Given the description of an element on the screen output the (x, y) to click on. 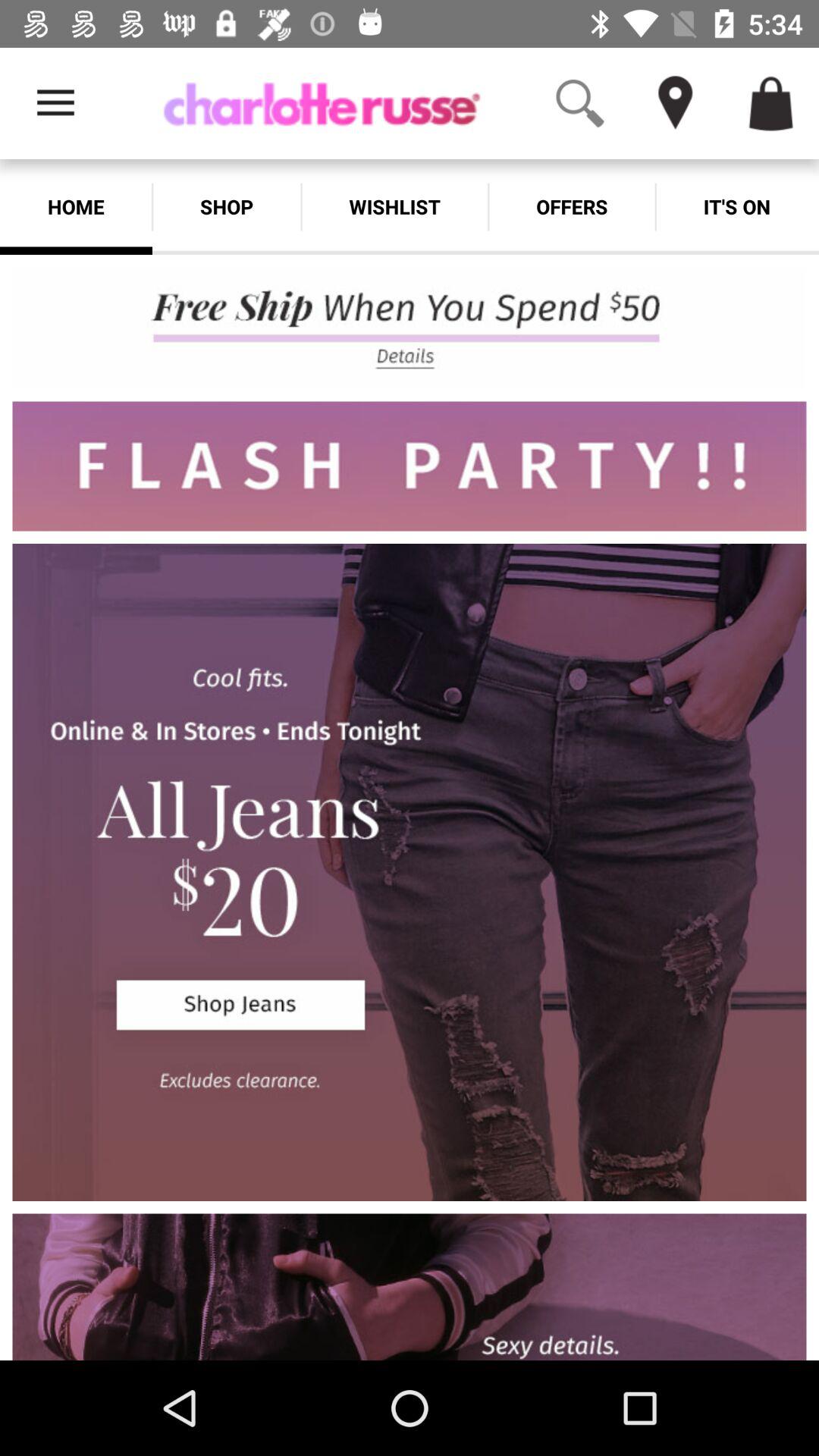
shopping bag (771, 103)
